Given the description of an element on the screen output the (x, y) to click on. 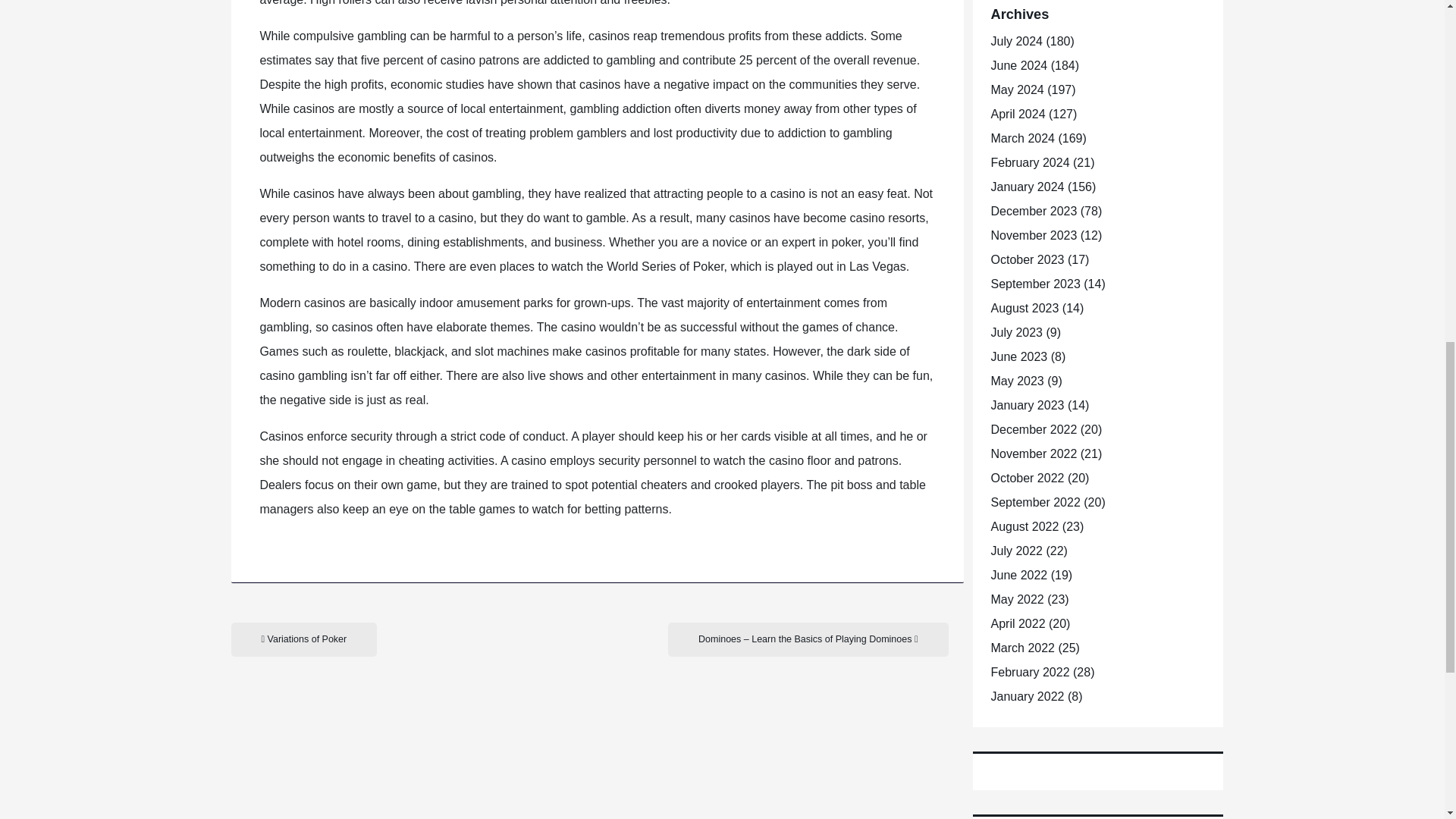
August 2022 (1024, 526)
March 2024 (1022, 137)
August 2023 (1024, 308)
December 2022 (1033, 429)
November 2022 (1033, 453)
September 2022 (1035, 502)
July 2024 (1016, 41)
September 2023 (1035, 283)
February 2024 (1029, 162)
January 2024 (1027, 186)
May 2024 (1016, 89)
Variations of Poker (303, 639)
May 2023 (1016, 380)
January 2023 (1027, 404)
July 2023 (1016, 332)
